Given the description of an element on the screen output the (x, y) to click on. 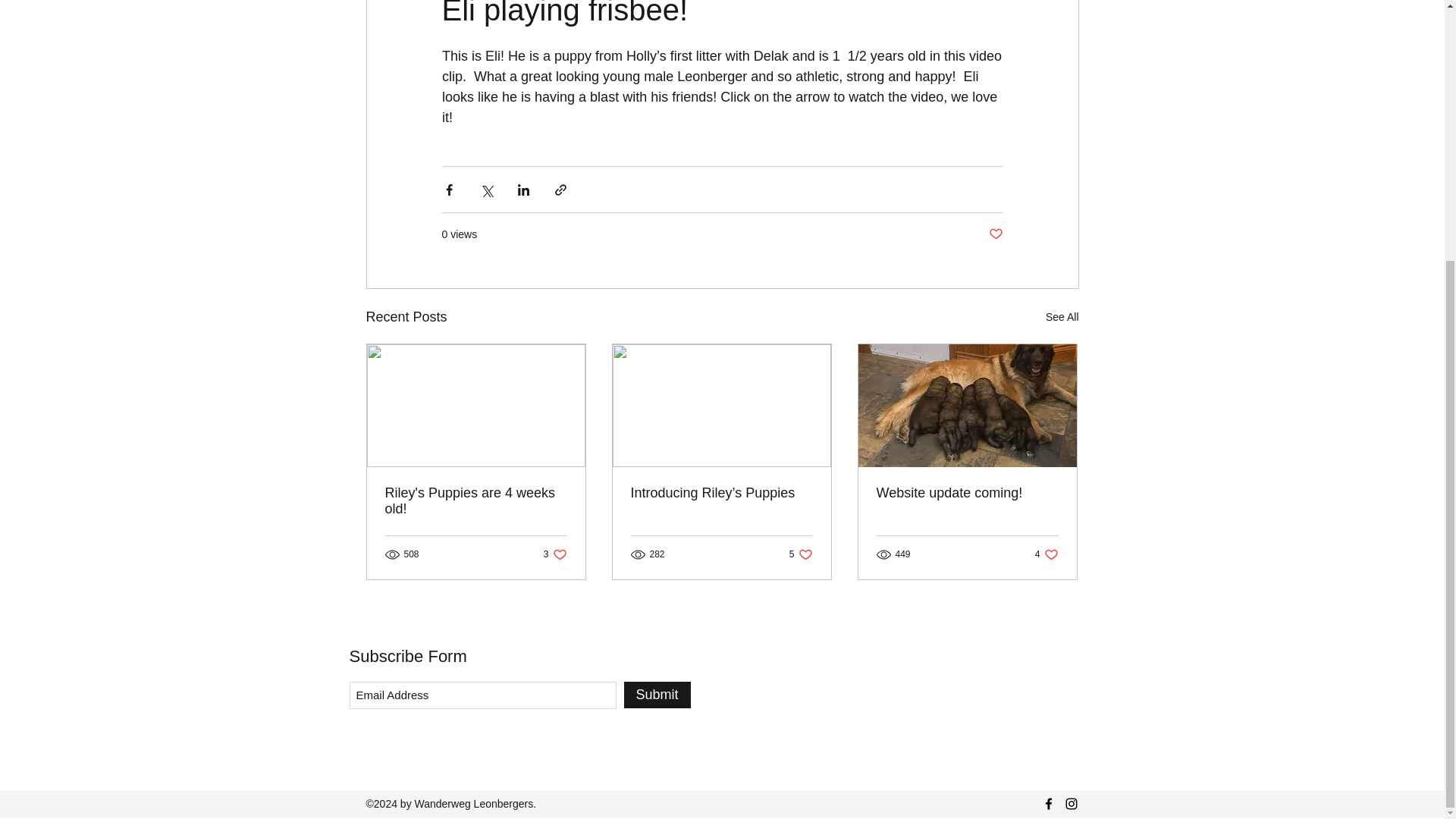
Riley's Puppies are 4 weeks old! (1046, 554)
See All (476, 500)
Post not marked as liked (1061, 317)
Submit (995, 234)
Website update coming! (656, 694)
